Given the description of an element on the screen output the (x, y) to click on. 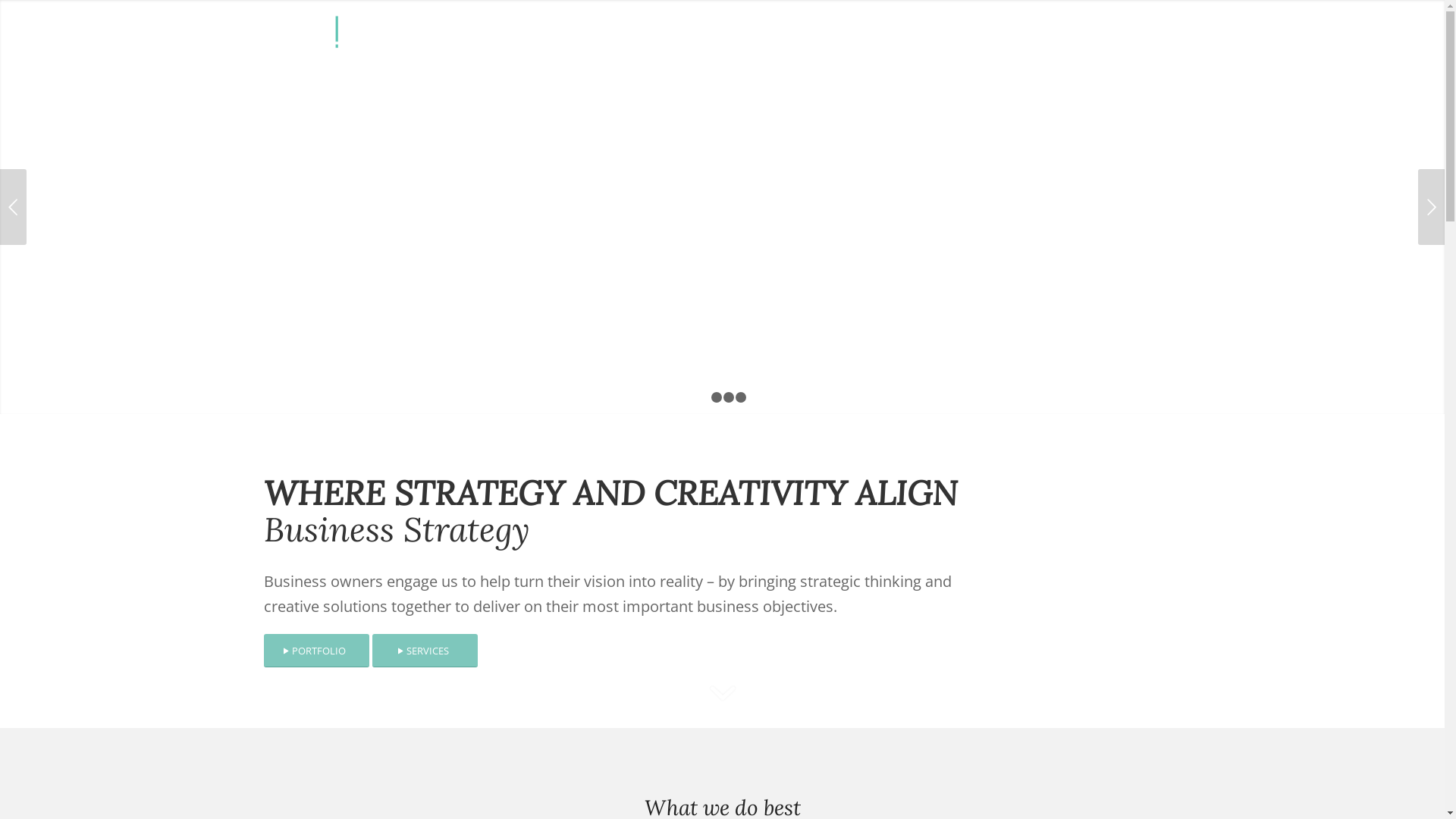
Previous Element type: text (13, 206)
Services Element type: text (941, 38)
Collaborators Element type: text (1061, 38)
Home Element type: text (889, 38)
4 Element type: text (740, 397)
Contact Element type: text (1133, 38)
1 Element type: text (704, 397)
SERVICES Element type: text (423, 650)
Next Element type: text (1431, 206)
About Element type: text (994, 38)
2 Element type: text (716, 397)
3 Element type: text (728, 397)
PORTFOLIO Element type: text (316, 650)
